Given the description of an element on the screen output the (x, y) to click on. 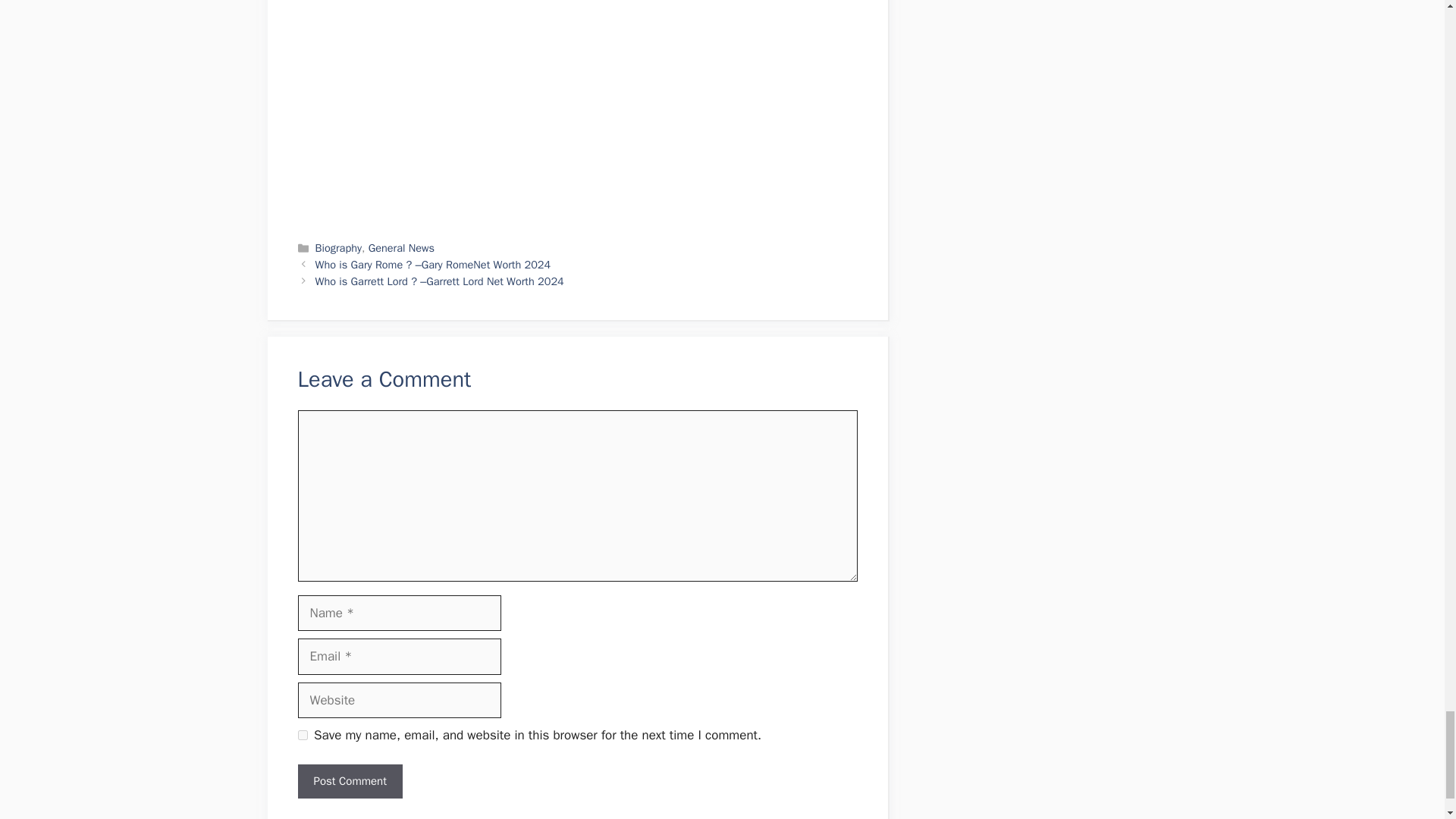
Post Comment (349, 781)
yes (302, 735)
Post Comment (349, 781)
General News (400, 247)
Biography (338, 247)
